Given the description of an element on the screen output the (x, y) to click on. 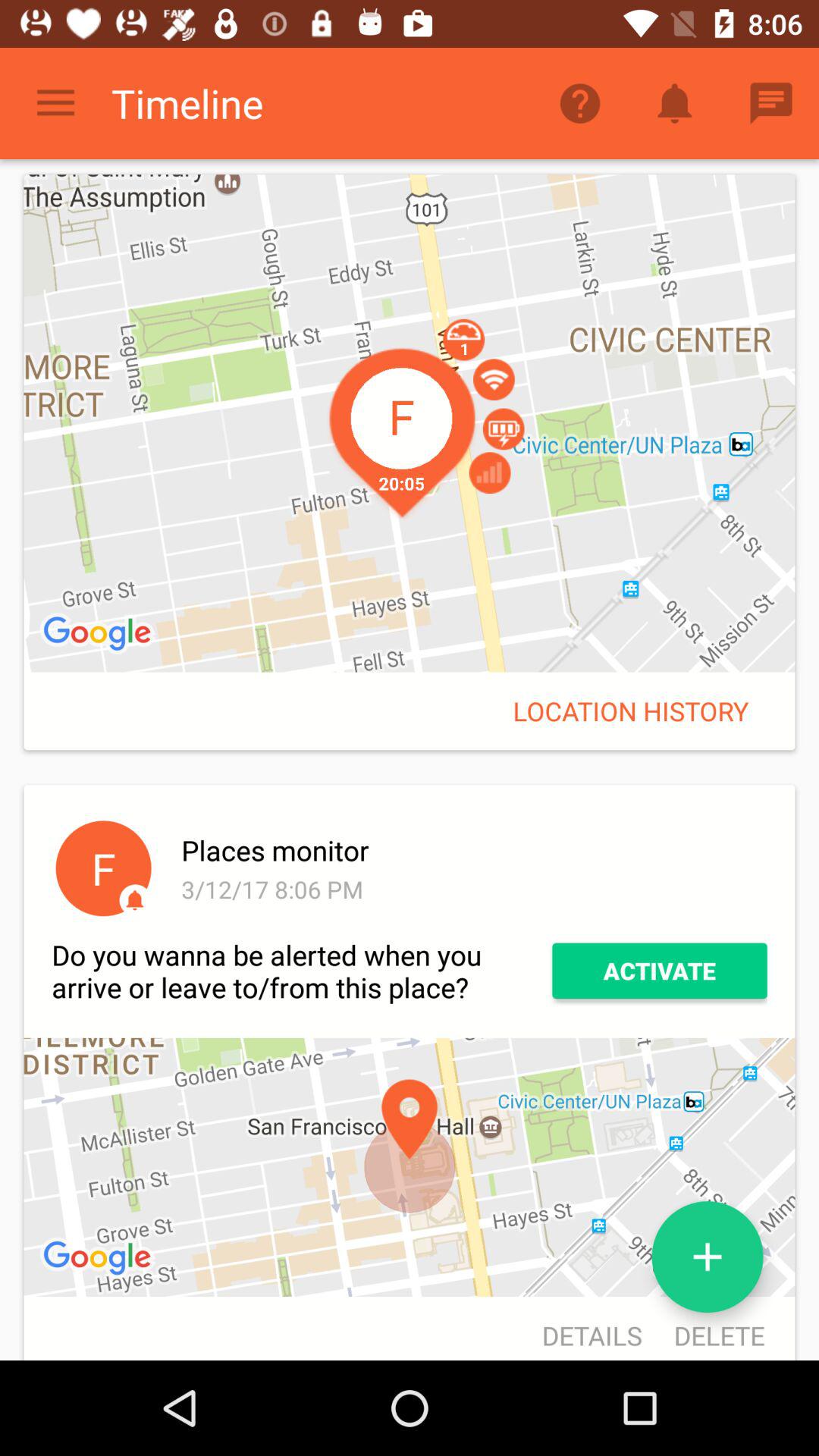
press icon to the left of timeline icon (55, 103)
